Given the description of an element on the screen output the (x, y) to click on. 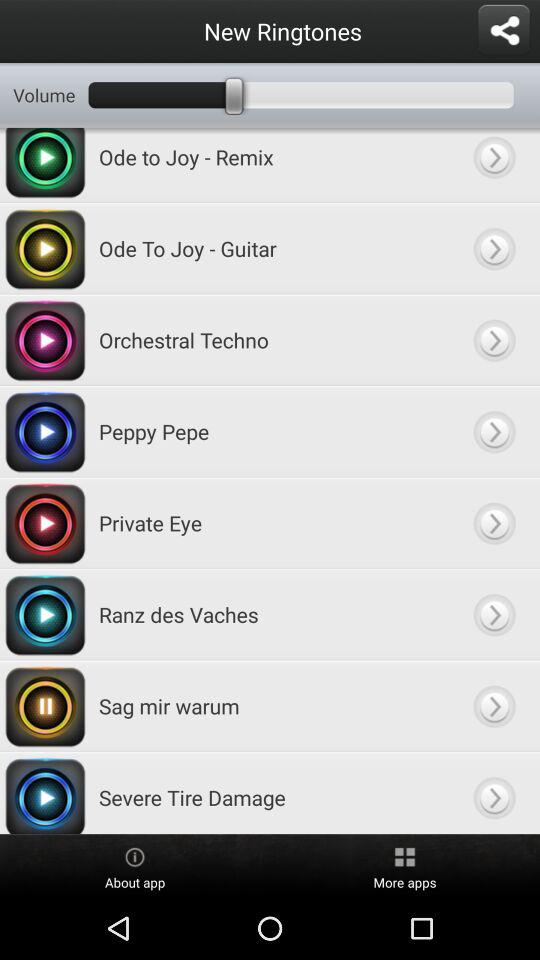
go to next (494, 793)
